Given the description of an element on the screen output the (x, y) to click on. 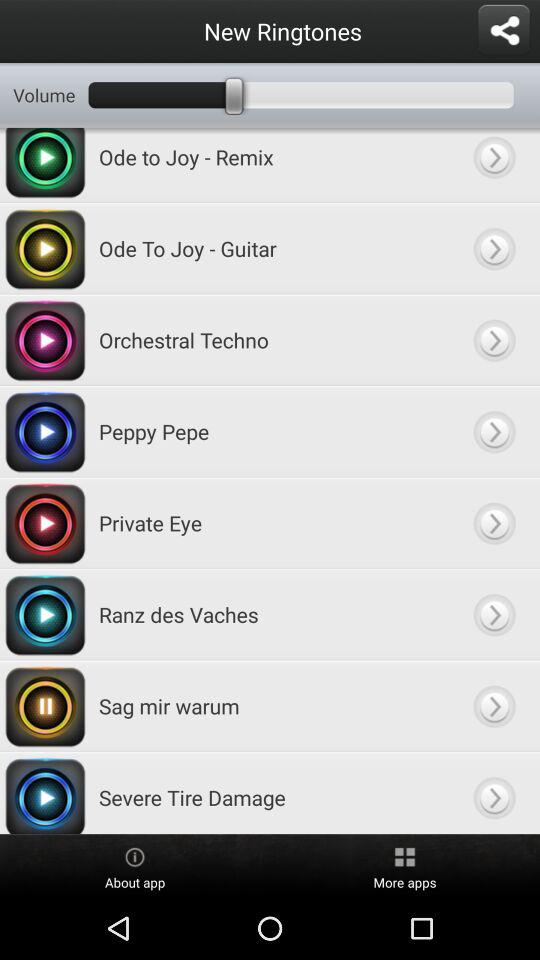
go to next (494, 793)
